Given the description of an element on the screen output the (x, y) to click on. 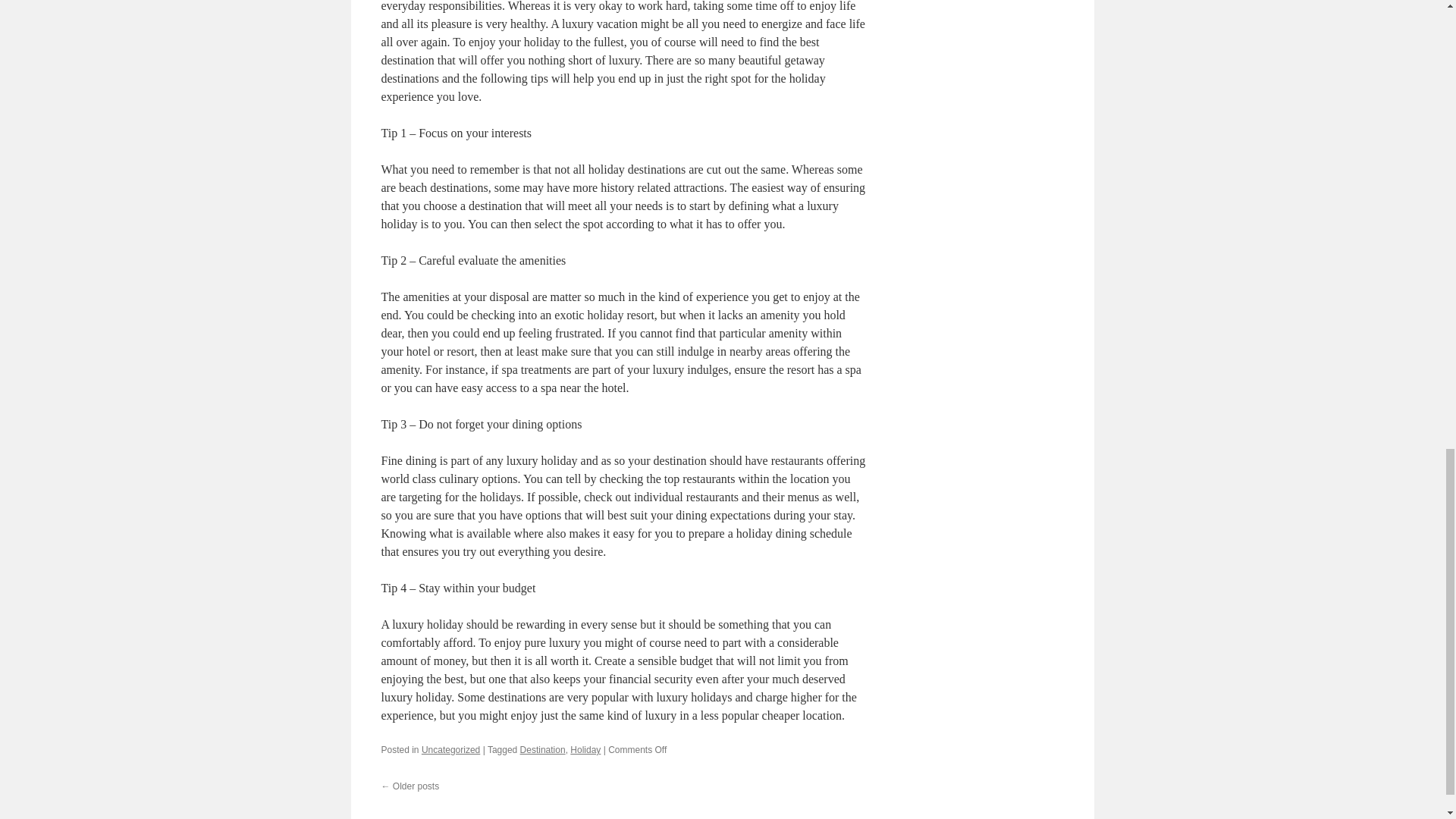
Uncategorized (451, 749)
Holiday (584, 749)
Destination (542, 749)
View all posts in Uncategorized (451, 749)
